Given the description of an element on the screen output the (x, y) to click on. 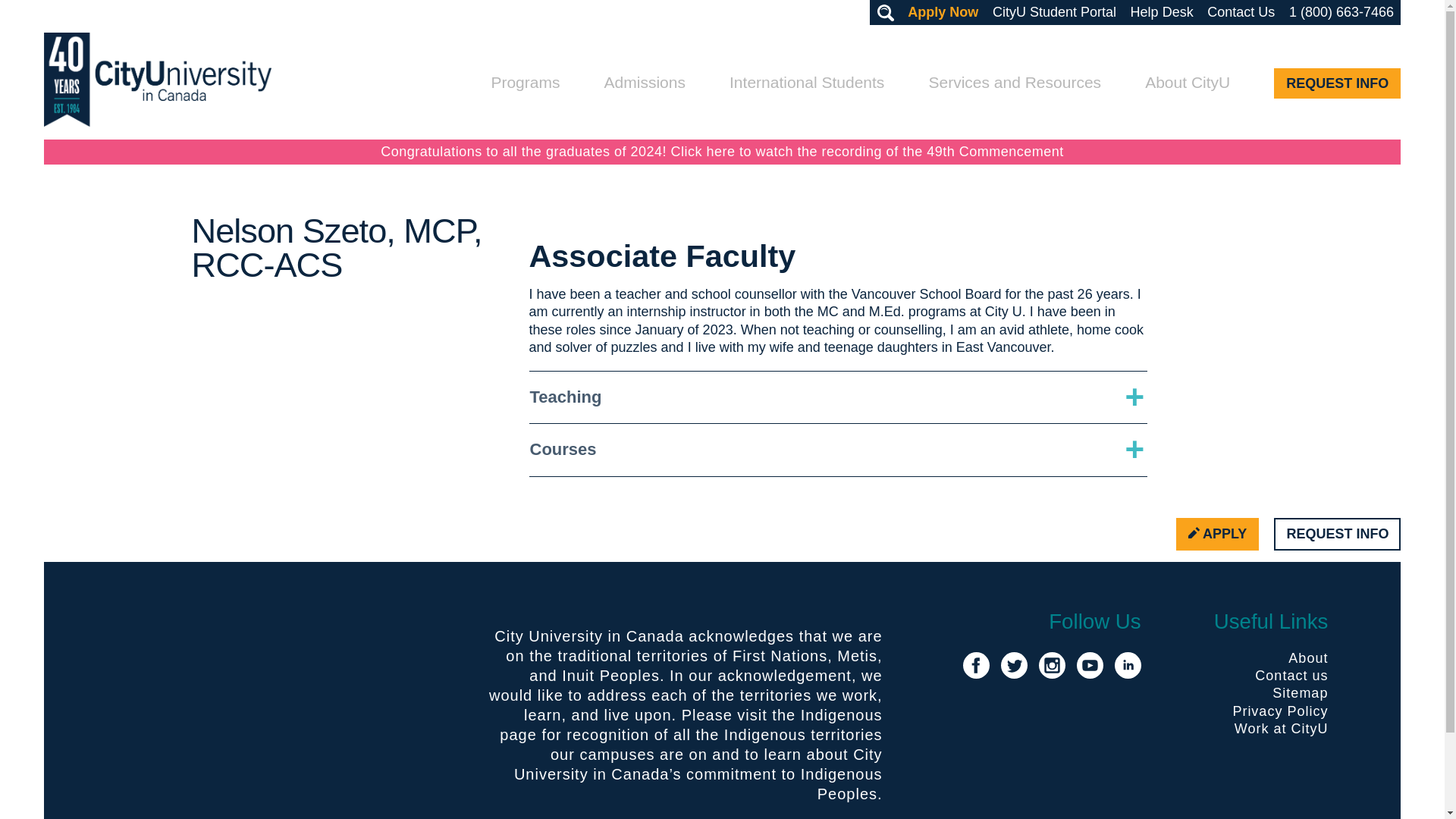
linkedin icon (1128, 664)
facebook icon (976, 664)
twitter icon (1014, 664)
youtube icon (1090, 664)
instagram icon (1052, 664)
